Given the description of an element on the screen output the (x, y) to click on. 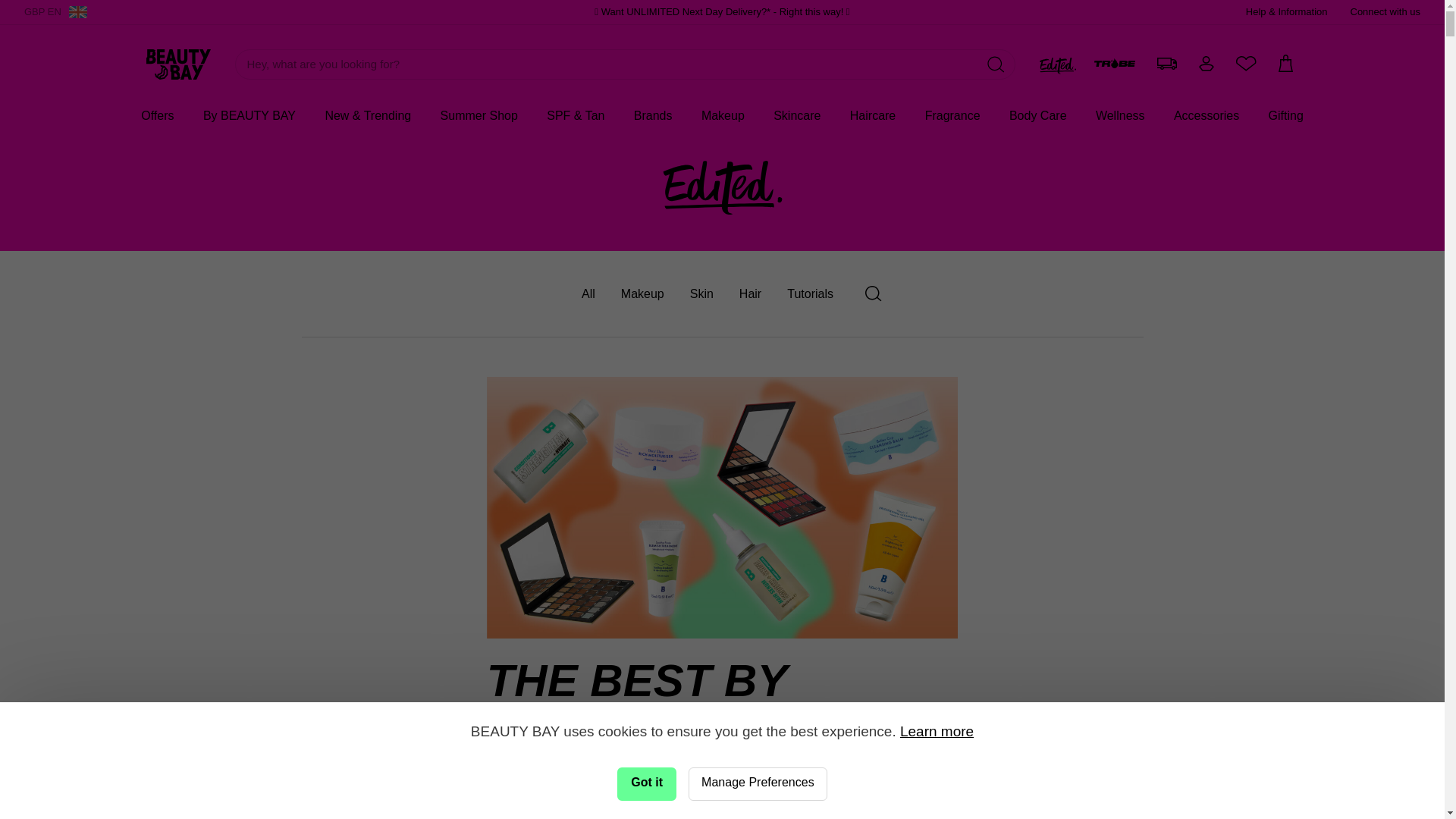
GBP EN (55, 12)
